Given the description of an element on the screen output the (x, y) to click on. 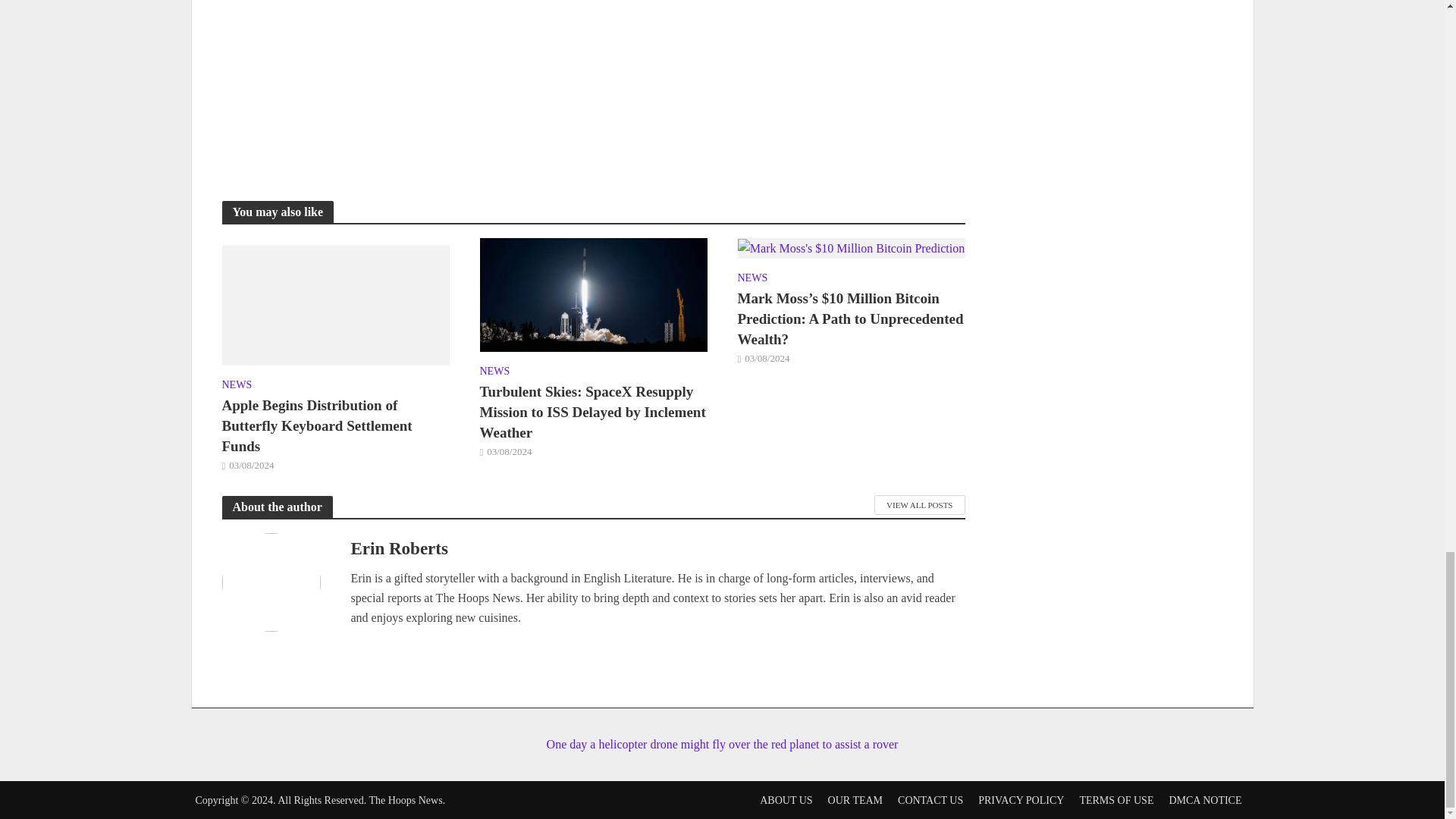
VIEW ALL POSTS (919, 505)
NEWS (236, 386)
NEWS (494, 372)
NEWS (751, 280)
